Given the description of an element on the screen output the (x, y) to click on. 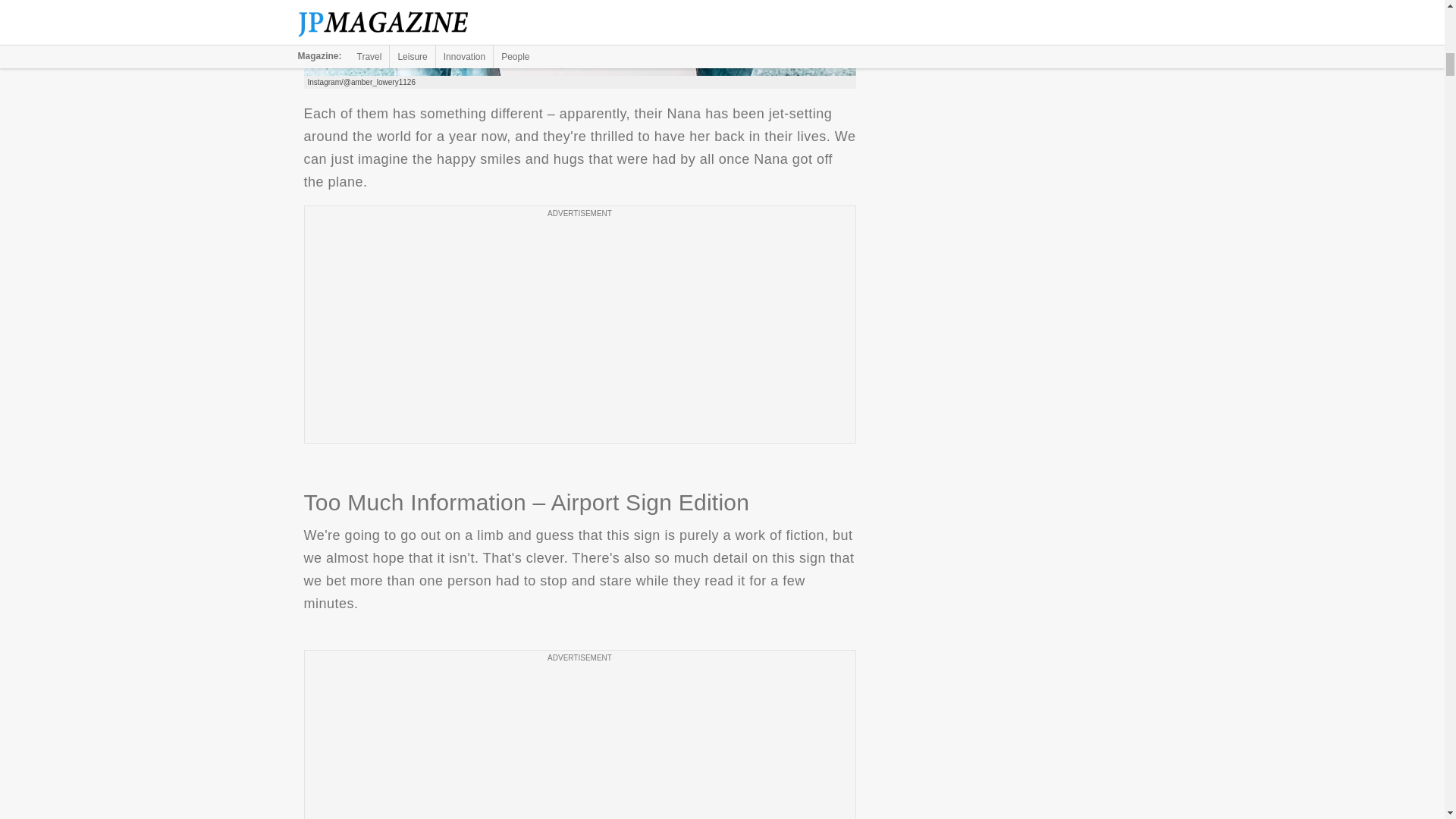
Kids Need Their Grandma (579, 37)
